Given the description of an element on the screen output the (x, y) to click on. 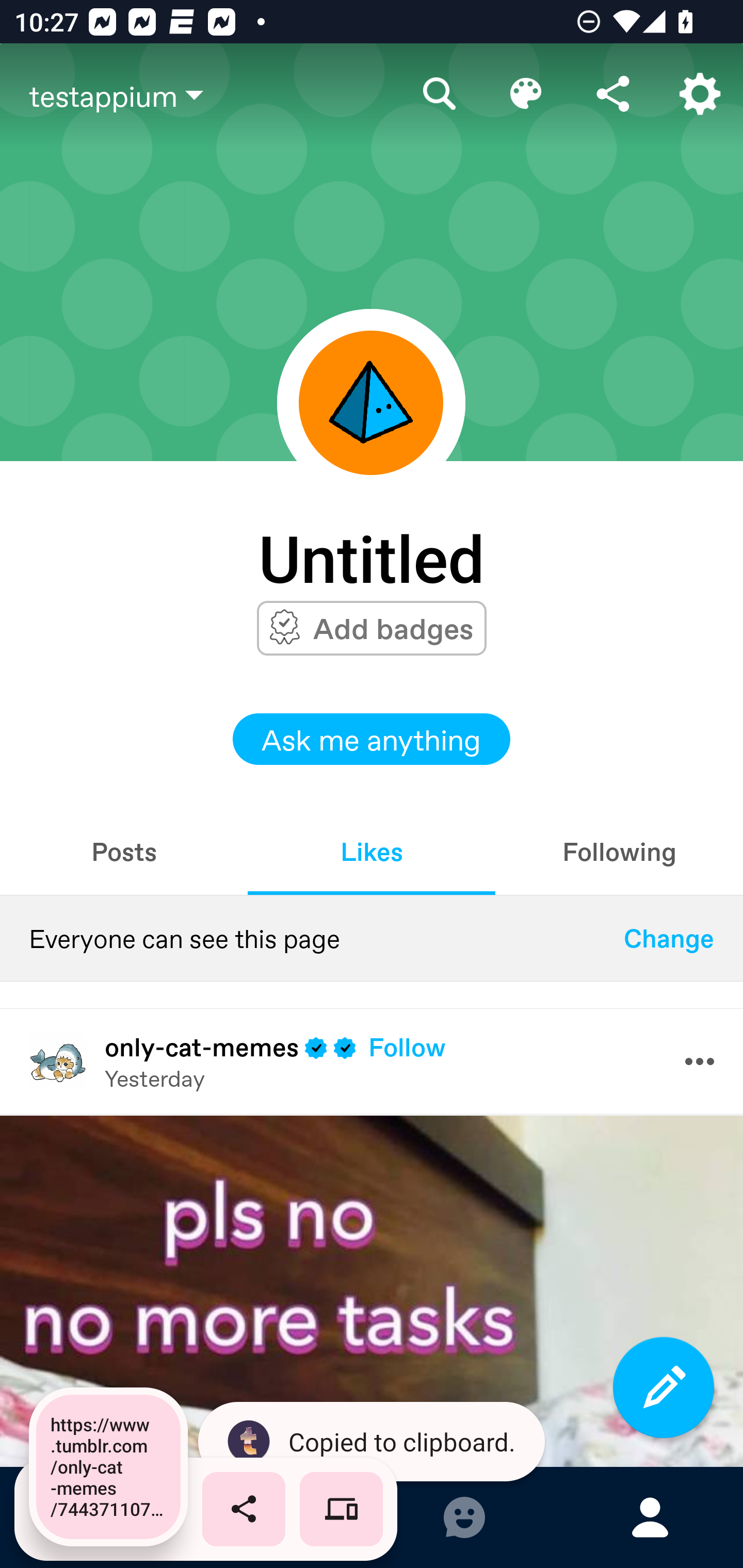
testappium (212, 95)
Search blog (439, 93)
Edit (525, 93)
Share (612, 93)
Account (699, 93)
Avatar frame (371, 402)
Add badges (393, 627)
Ask me anything (371, 739)
Posts (123, 851)
Following (619, 851)
Change (669, 938)
Follow (406, 1046)
Compose a new post (663, 1387)
MESSAGES (464, 1517)
ACCOUNT (650, 1517)
